Given the description of an element on the screen output the (x, y) to click on. 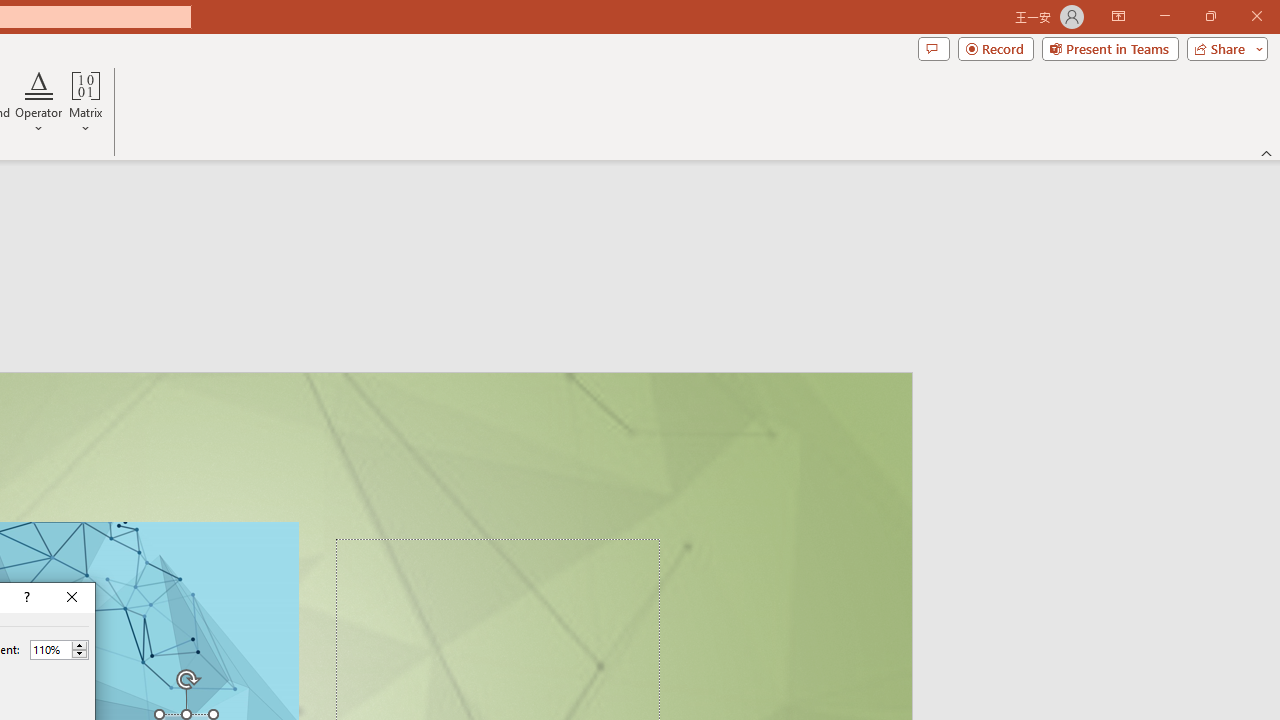
Matrix (86, 102)
Percent (59, 650)
